Given the description of an element on the screen output the (x, y) to click on. 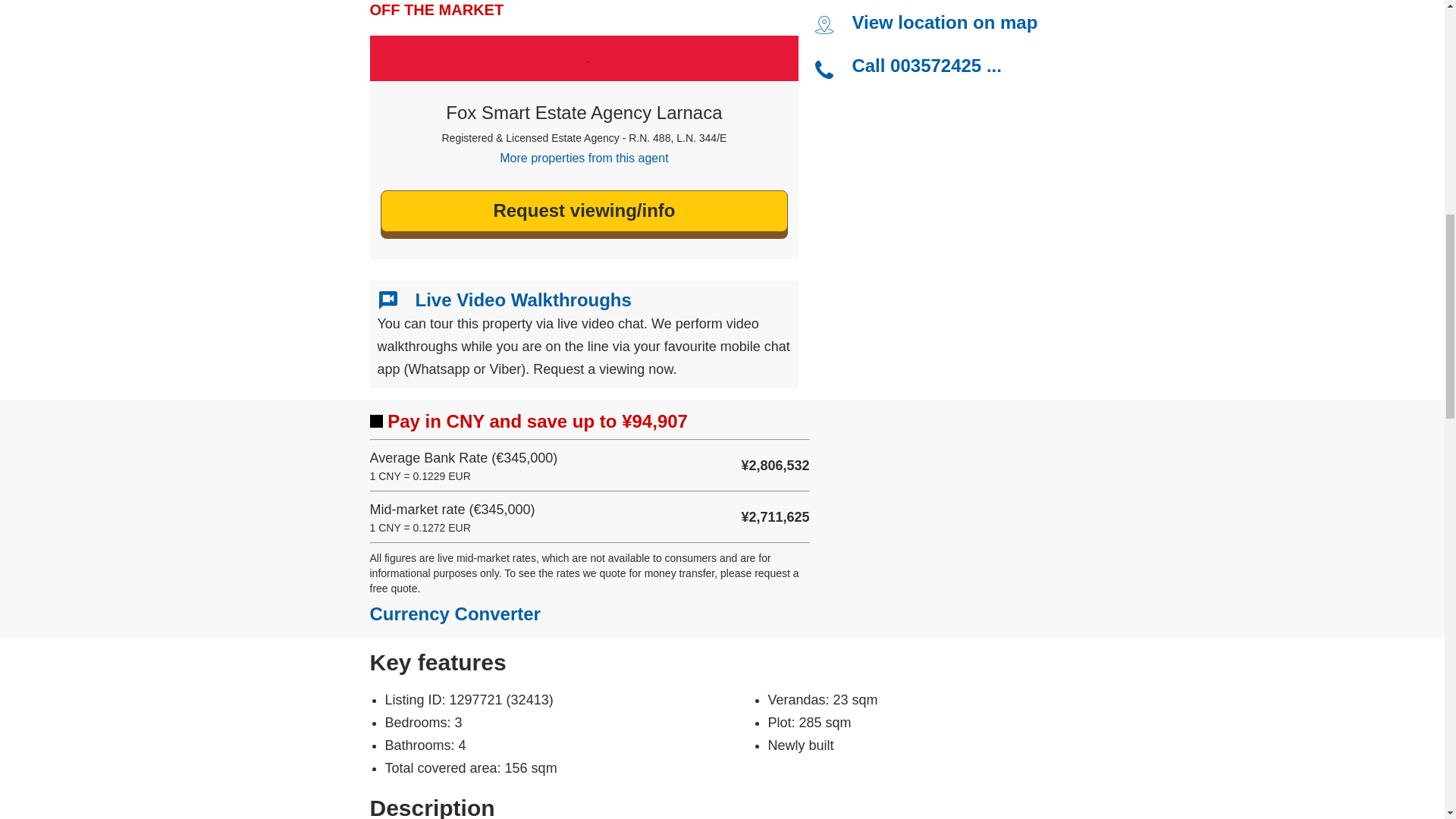
More properties from this agent (583, 157)
Live Video Walkthroughs (522, 299)
View location on map (943, 22)
Currency Converter (454, 613)
